Given the description of an element on the screen output the (x, y) to click on. 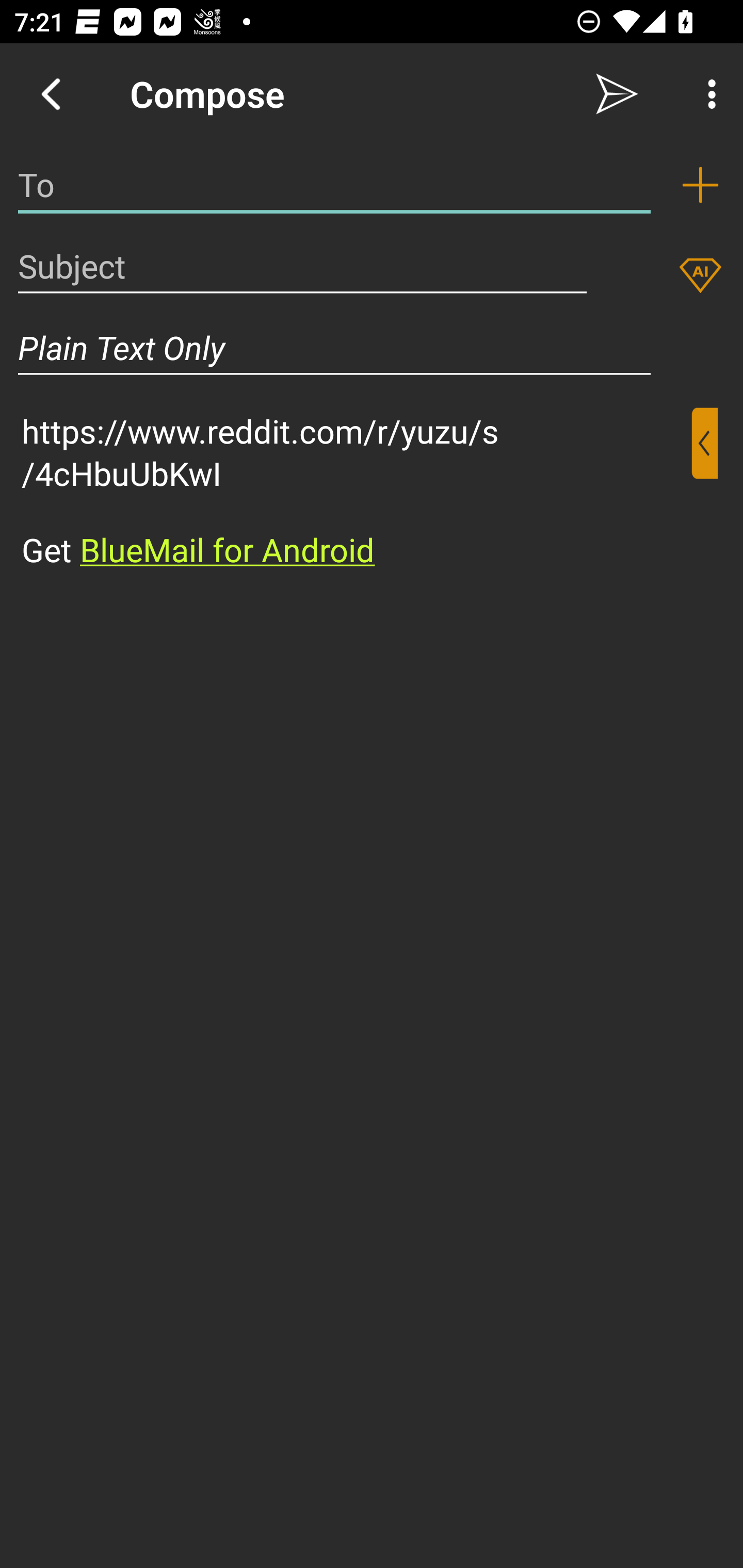
Navigate up (50, 93)
Send (616, 93)
More Options (706, 93)
To (334, 184)
Add recipient (To) (699, 184)
Subject (302, 266)
Plain Text Only (334, 347)
